Given the description of an element on the screen output the (x, y) to click on. 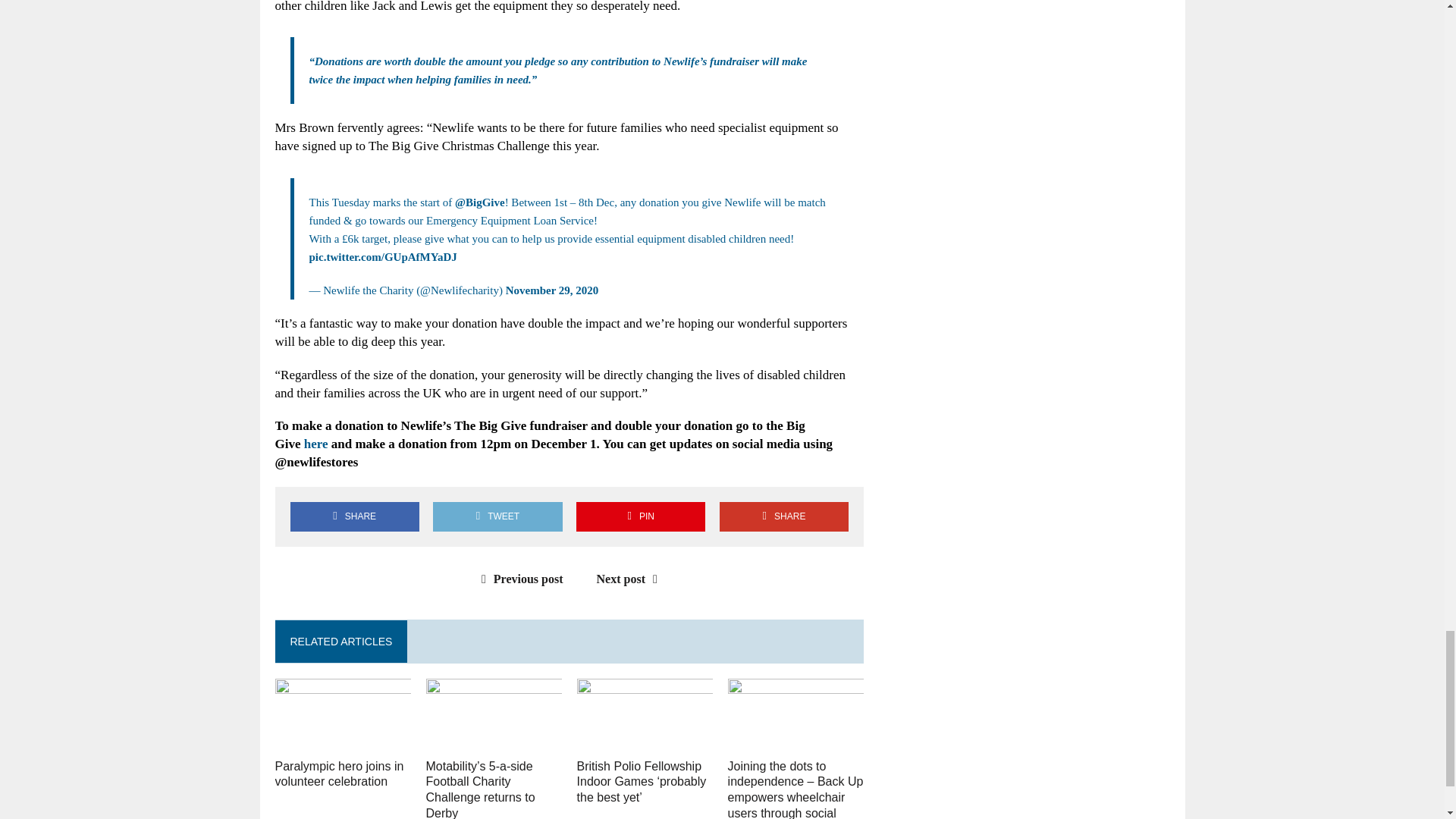
Share on Facebook (354, 516)
Pin This Post (640, 516)
Tweet This Post (497, 516)
